Given the description of an element on the screen output the (x, y) to click on. 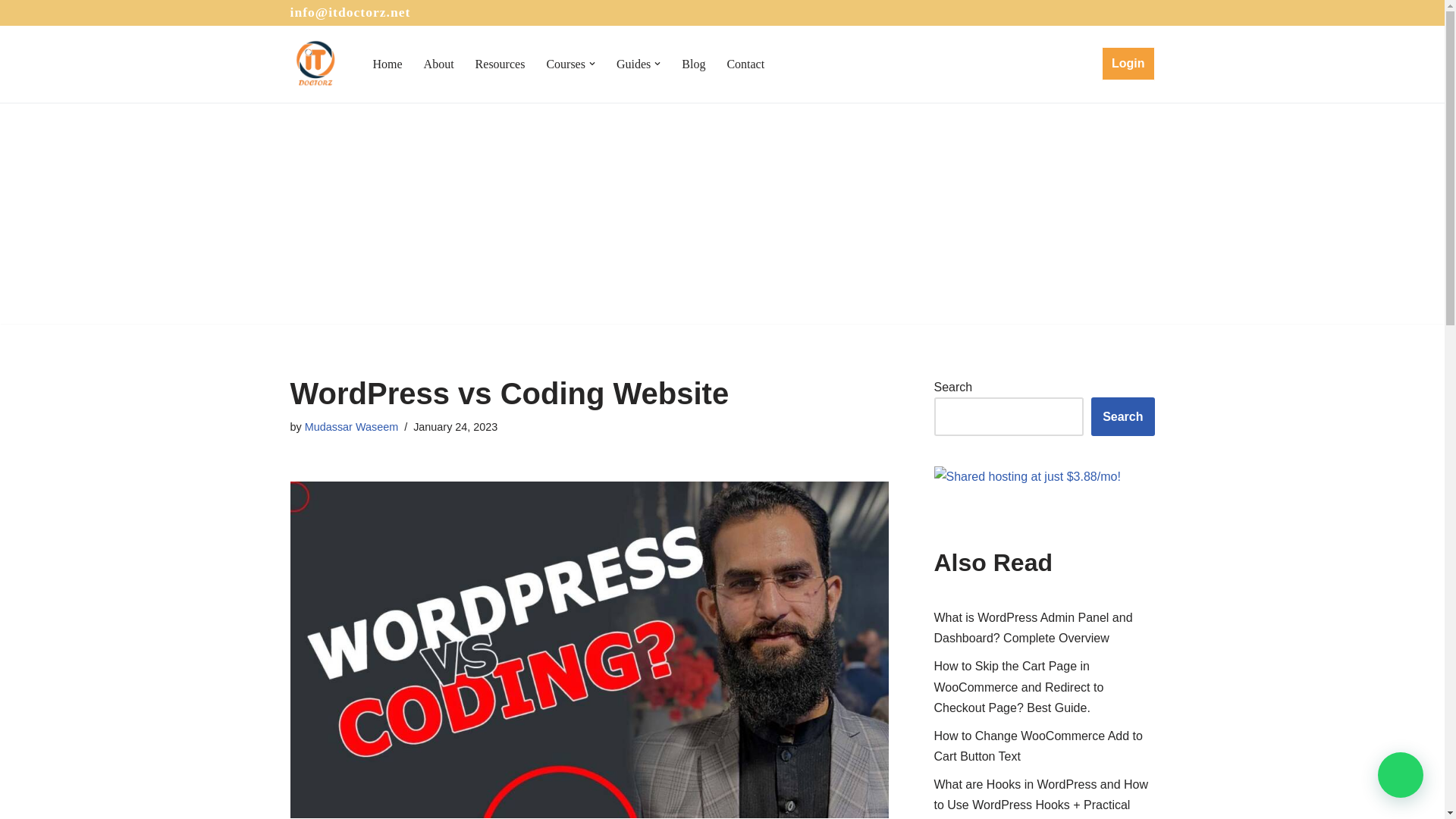
Blog (692, 64)
Guides (632, 64)
Resources (500, 64)
Courses (565, 64)
Contact (745, 64)
Skip to content (11, 31)
Home (387, 64)
Posts by Mudassar Waseem (350, 426)
About (438, 64)
Login (1128, 63)
